Given the description of an element on the screen output the (x, y) to click on. 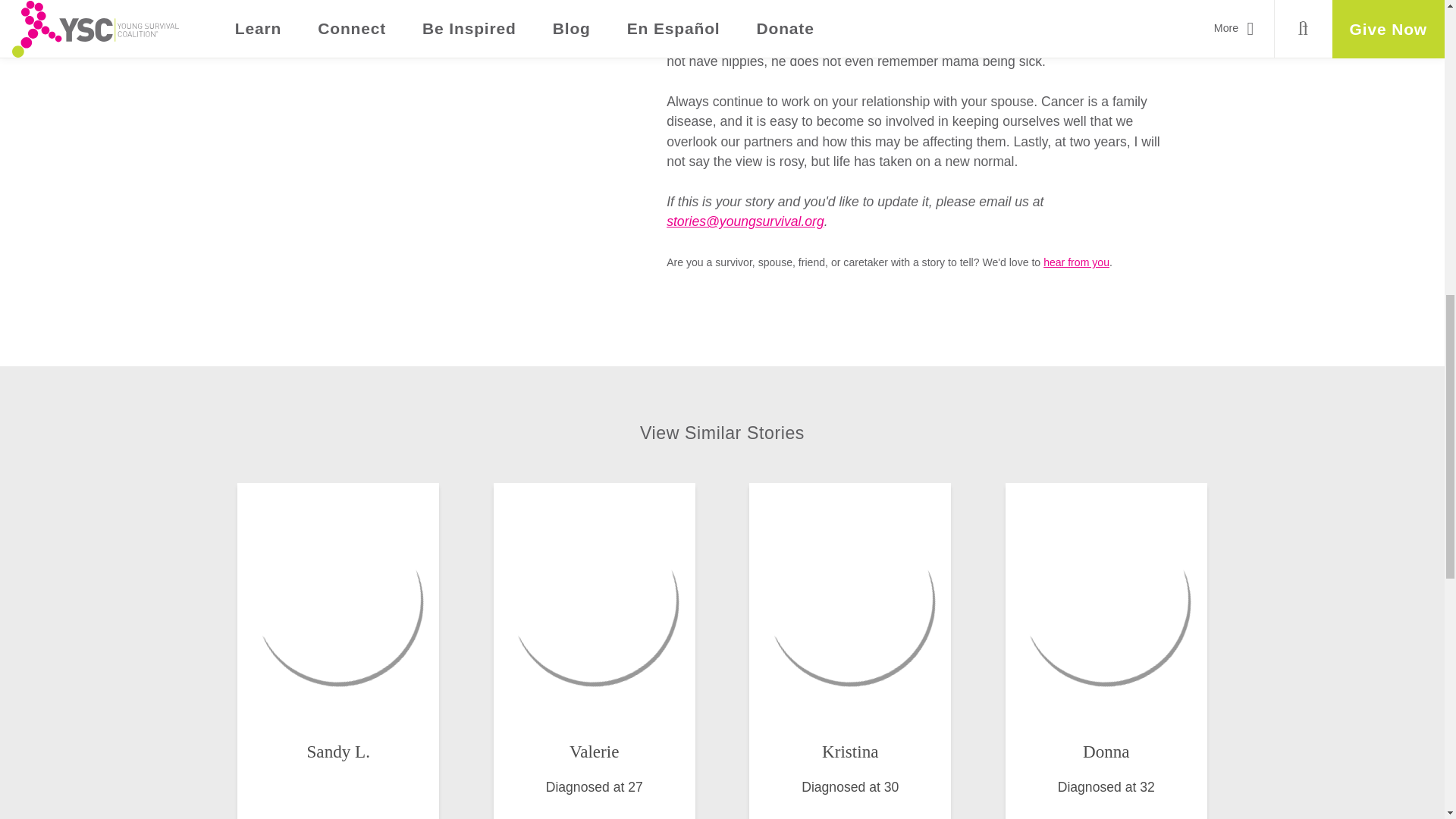
We'd love to hear from you (1076, 262)
